Given the description of an element on the screen output the (x, y) to click on. 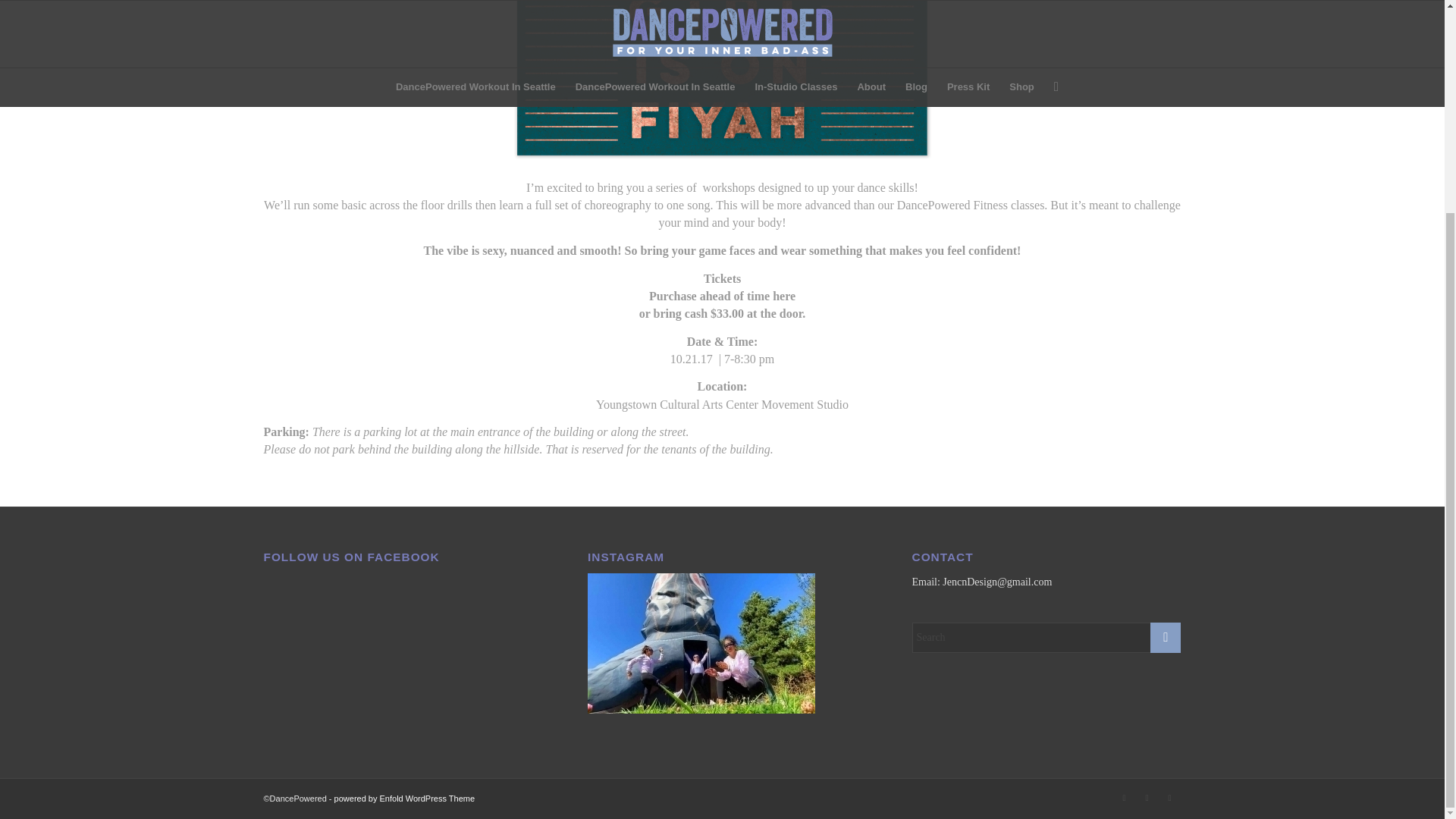
Facebook (1169, 797)
Click to start search (1165, 637)
powered by Enfold WordPress Theme (404, 798)
Youtube (1146, 797)
Instagram (1124, 797)
here (783, 295)
